Given the description of an element on the screen output the (x, y) to click on. 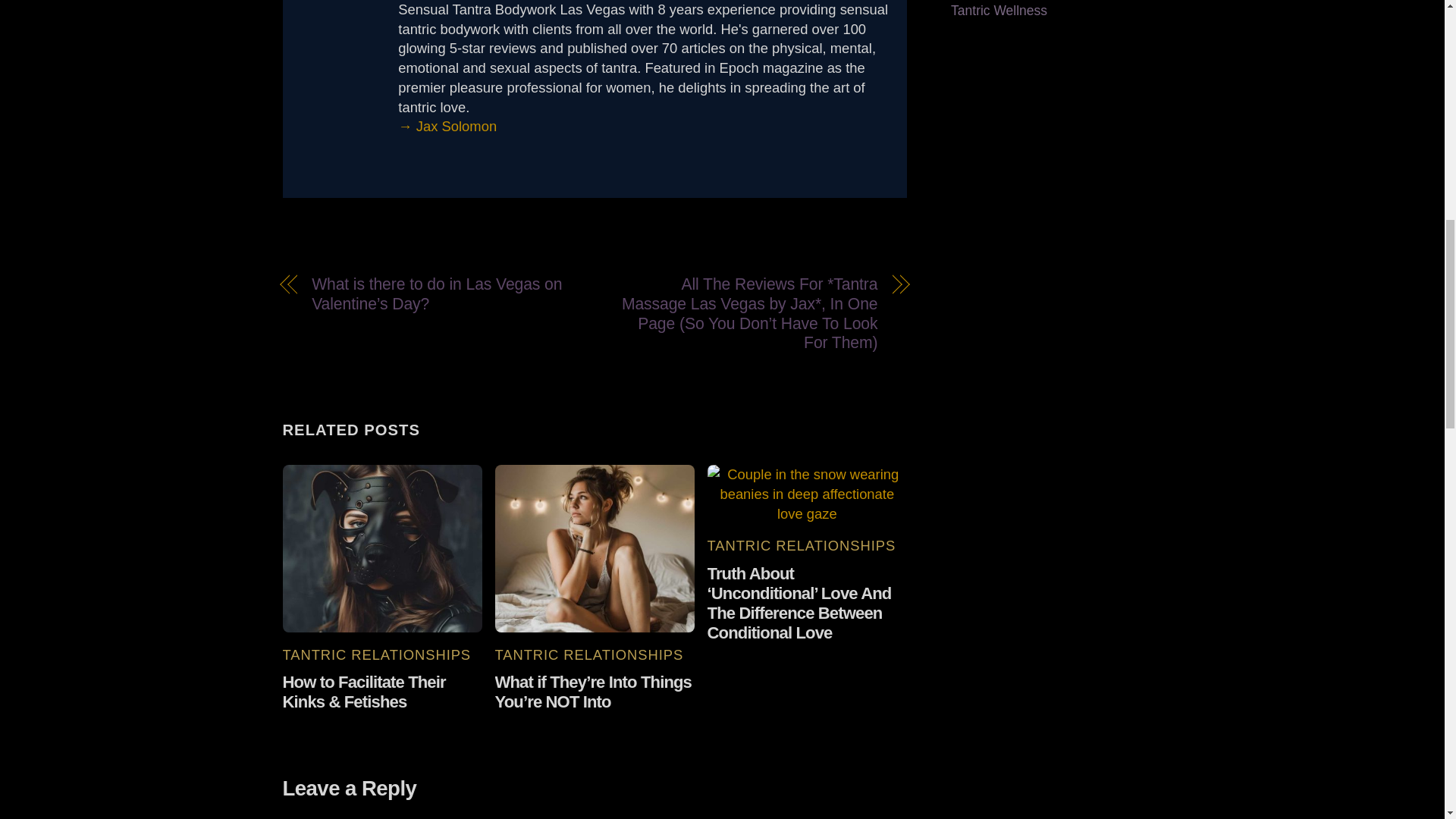
Curious Woman Sitting On Bed Arms On Her Face (595, 548)
TANTRIC RELATIONSHIPS (376, 654)
TANTRIC RELATIONSHIPS (801, 545)
TANTRIC RELATIONSHIPS (589, 654)
Tantric Wellness (998, 10)
